Given the description of an element on the screen output the (x, y) to click on. 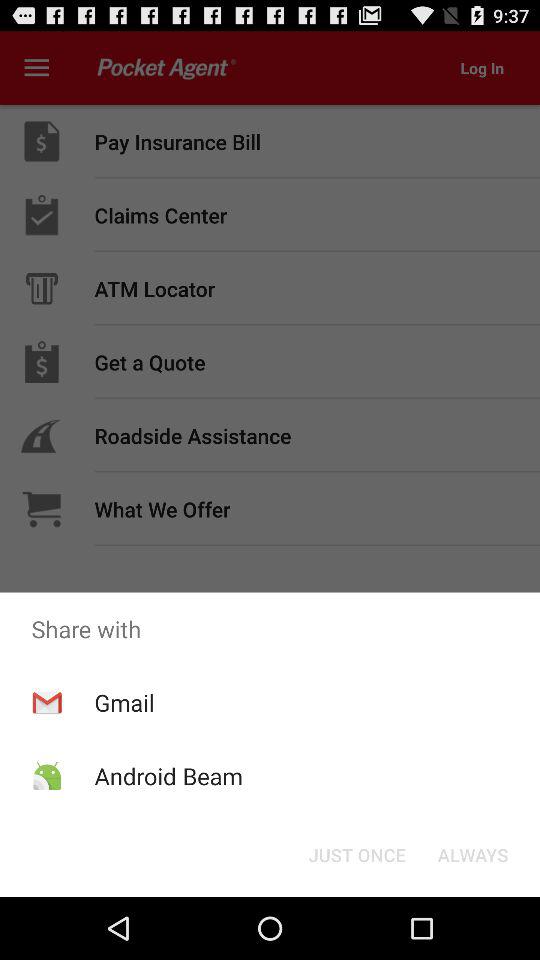
turn off the icon to the right of the just once icon (472, 854)
